Given the description of an element on the screen output the (x, y) to click on. 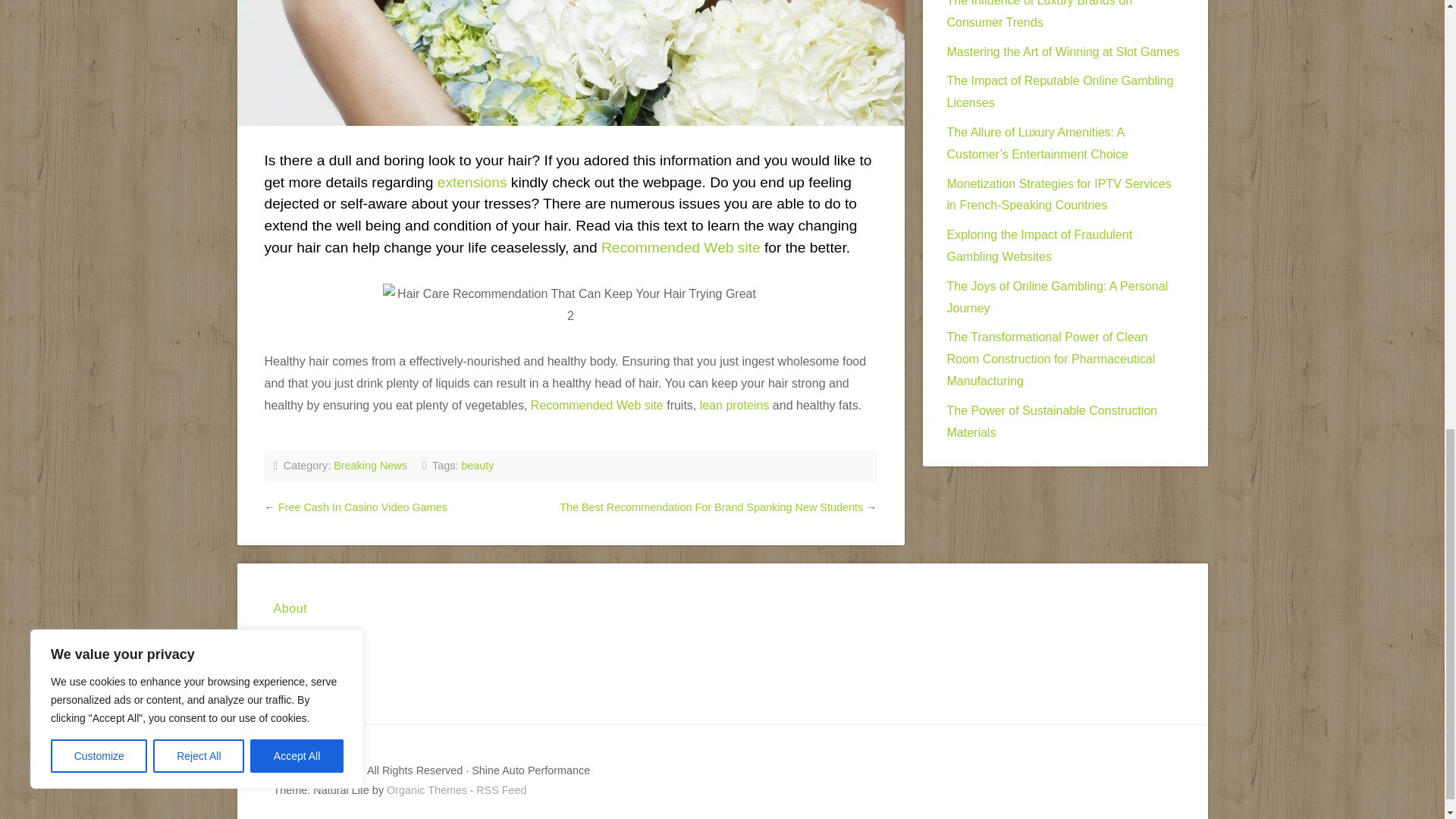
Recommended Web site (680, 247)
Breaking News (370, 465)
Free Cash In Casino Video Games (362, 507)
lean proteins (735, 404)
beauty (477, 465)
extensions (472, 182)
Recommended Web site (597, 404)
The Best Recommendation For Brand Spanking New Students (711, 507)
